Given the description of an element on the screen output the (x, y) to click on. 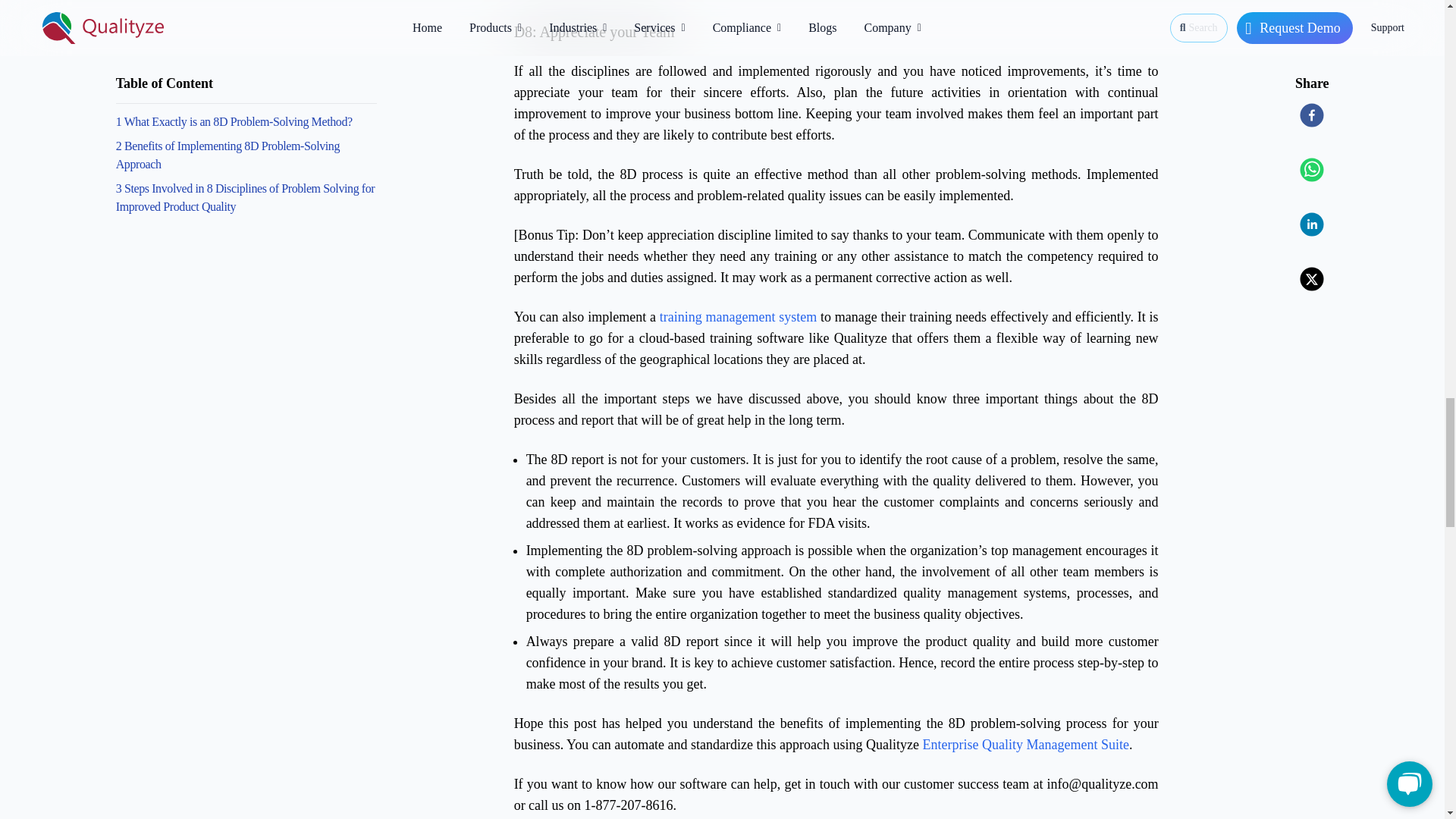
training management system (737, 316)
Enterprise Quality Management Suite (1024, 744)
